Given the description of an element on the screen output the (x, y) to click on. 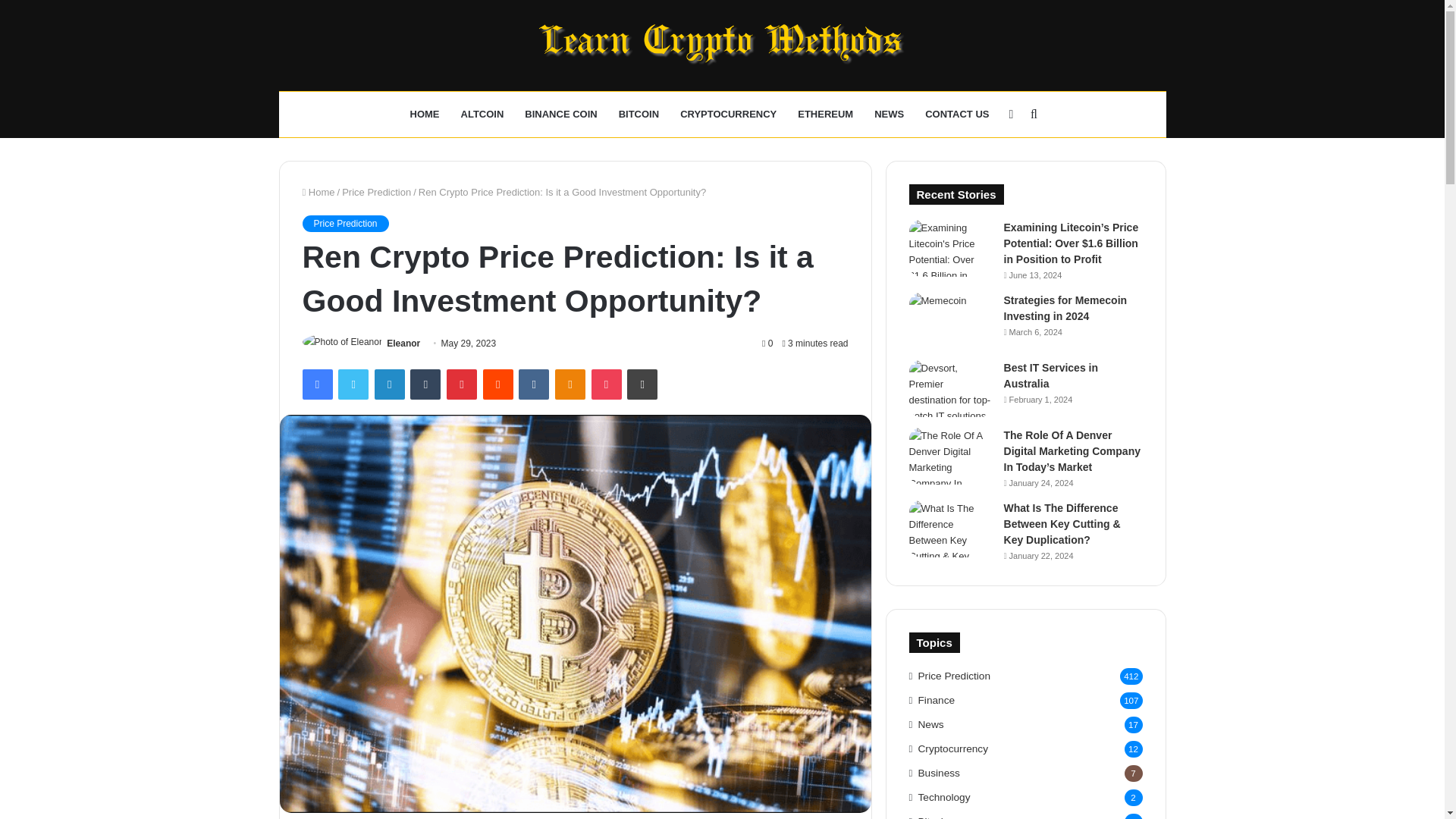
VKontakte (533, 384)
Facebook (316, 384)
LinkedIn (389, 384)
Reddit (498, 384)
Pocket (606, 384)
Twitter (352, 384)
Odnoklassniki (569, 384)
CONTACT US (956, 114)
Eleanor (403, 343)
Tumblr (425, 384)
